Given the description of an element on the screen output the (x, y) to click on. 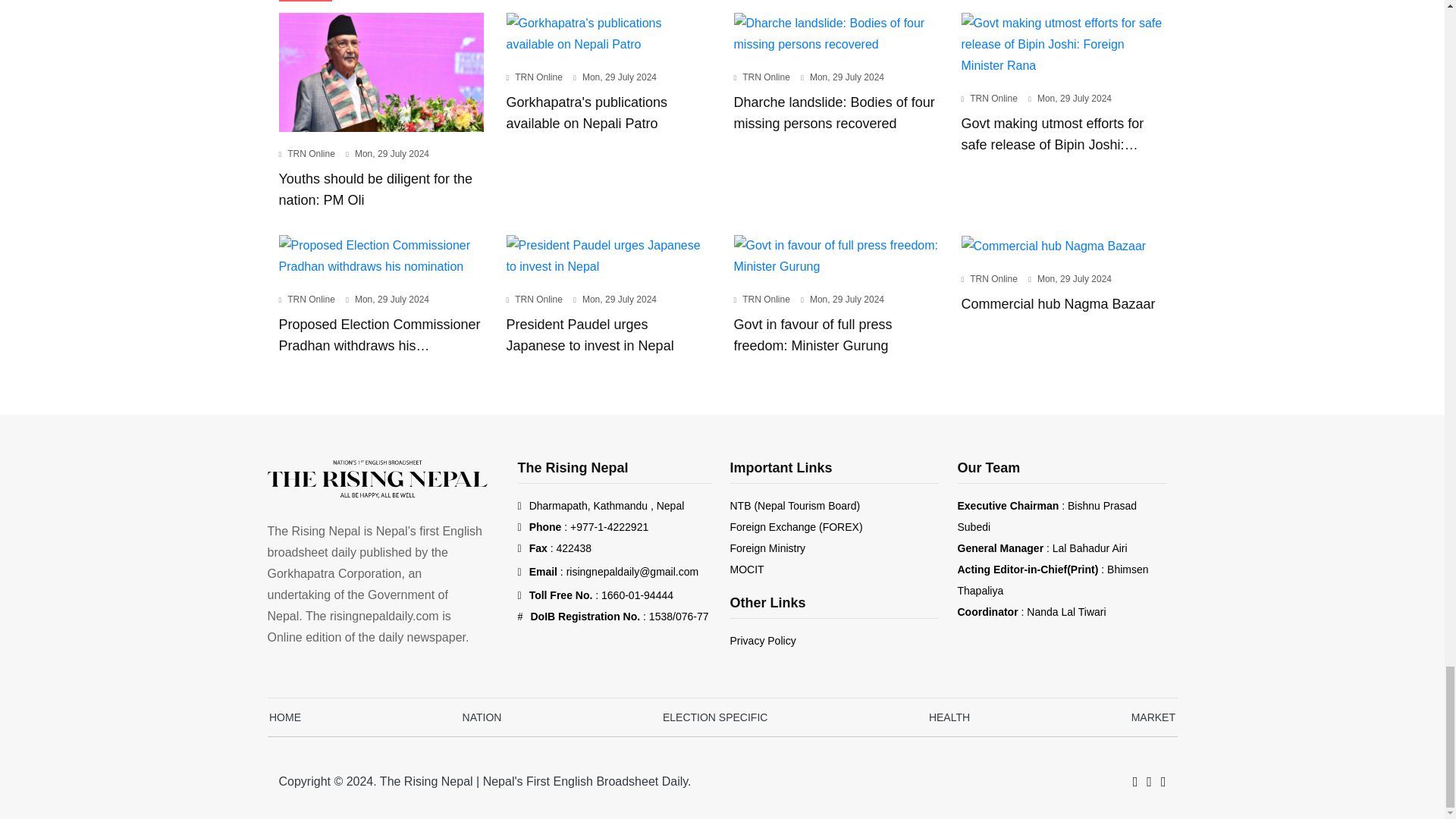
Suchana tahtaa sanchaar mantralya (745, 569)
